Given the description of an element on the screen output the (x, y) to click on. 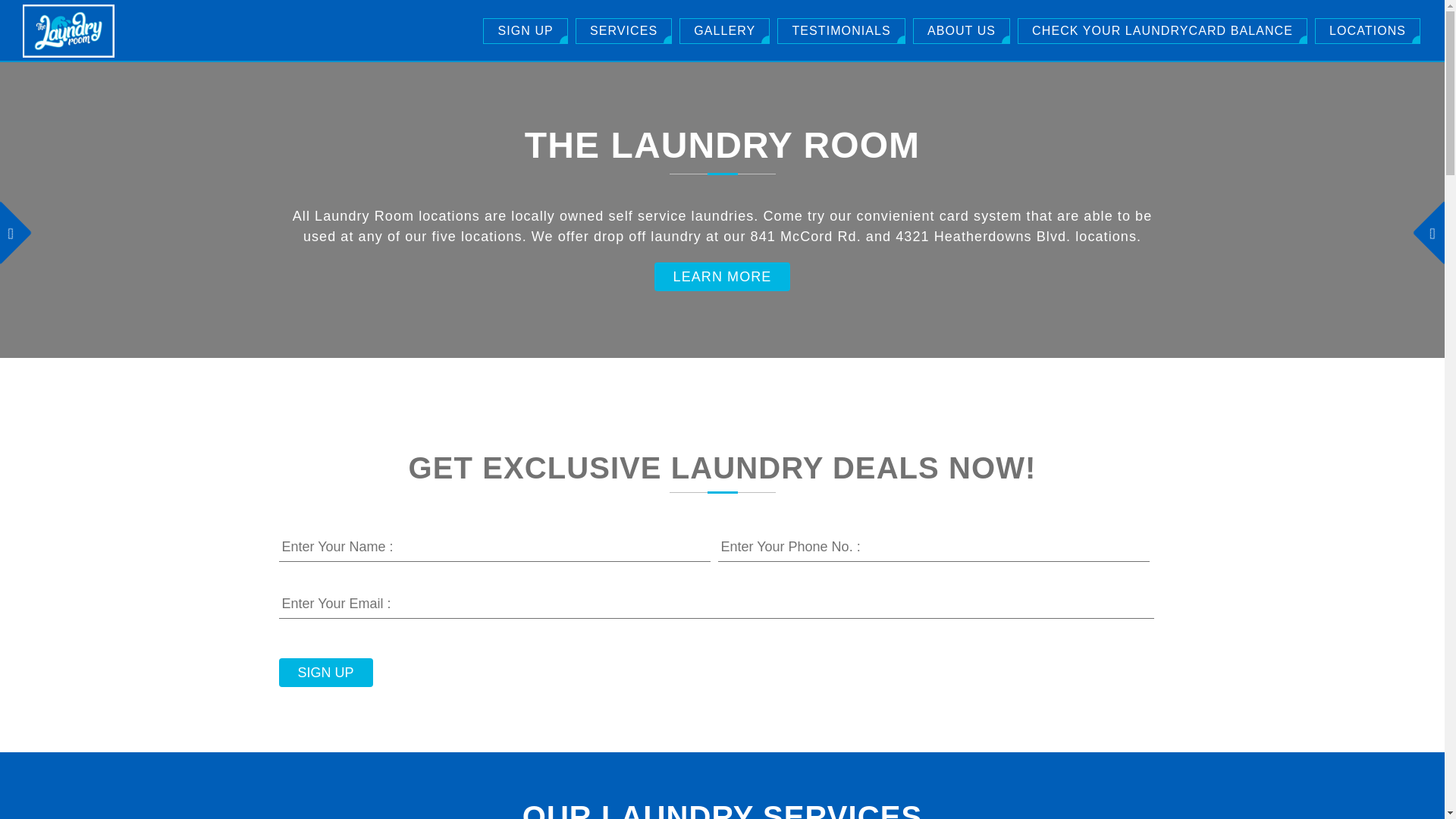
LEARN MORE (721, 276)
SERVICES (623, 31)
Sign Up (325, 672)
ABOUT US (961, 31)
GALLERY (724, 31)
Sign Up (325, 672)
NEXT (1434, 223)
SIGN UP (525, 31)
TESTIMONIALS (840, 31)
CHECK YOUR LAUNDRYCARD BALANCE (1162, 31)
LOCATIONS (1367, 31)
